Given the description of an element on the screen output the (x, y) to click on. 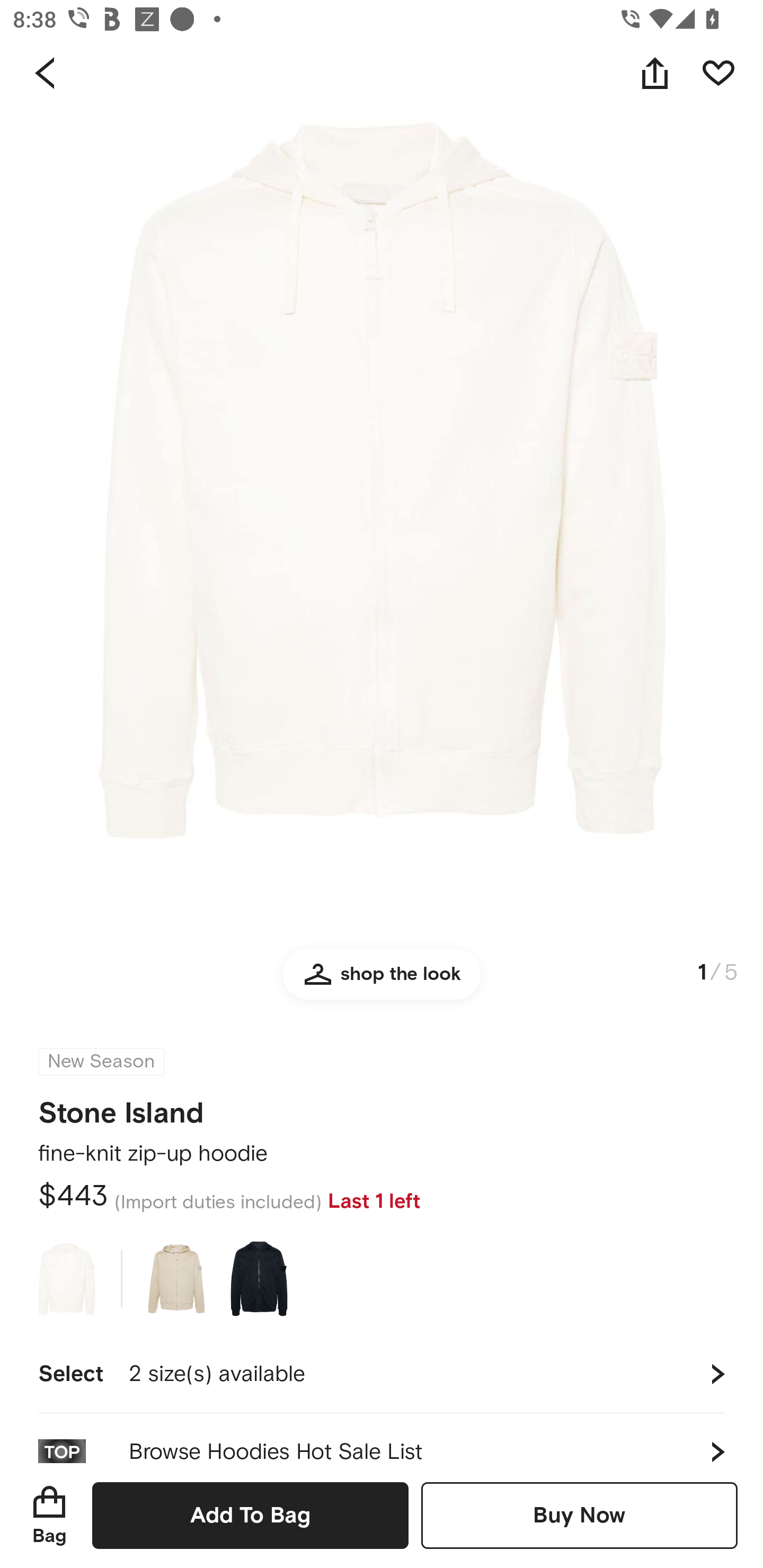
shop the look (381, 982)
Stone Island (120, 1107)
Select 2 size(s) available (381, 1373)
Browse Hoodies Hot Sale List (381, 1438)
Bag (49, 1515)
Add To Bag (250, 1515)
Buy Now (579, 1515)
